Given the description of an element on the screen output the (x, y) to click on. 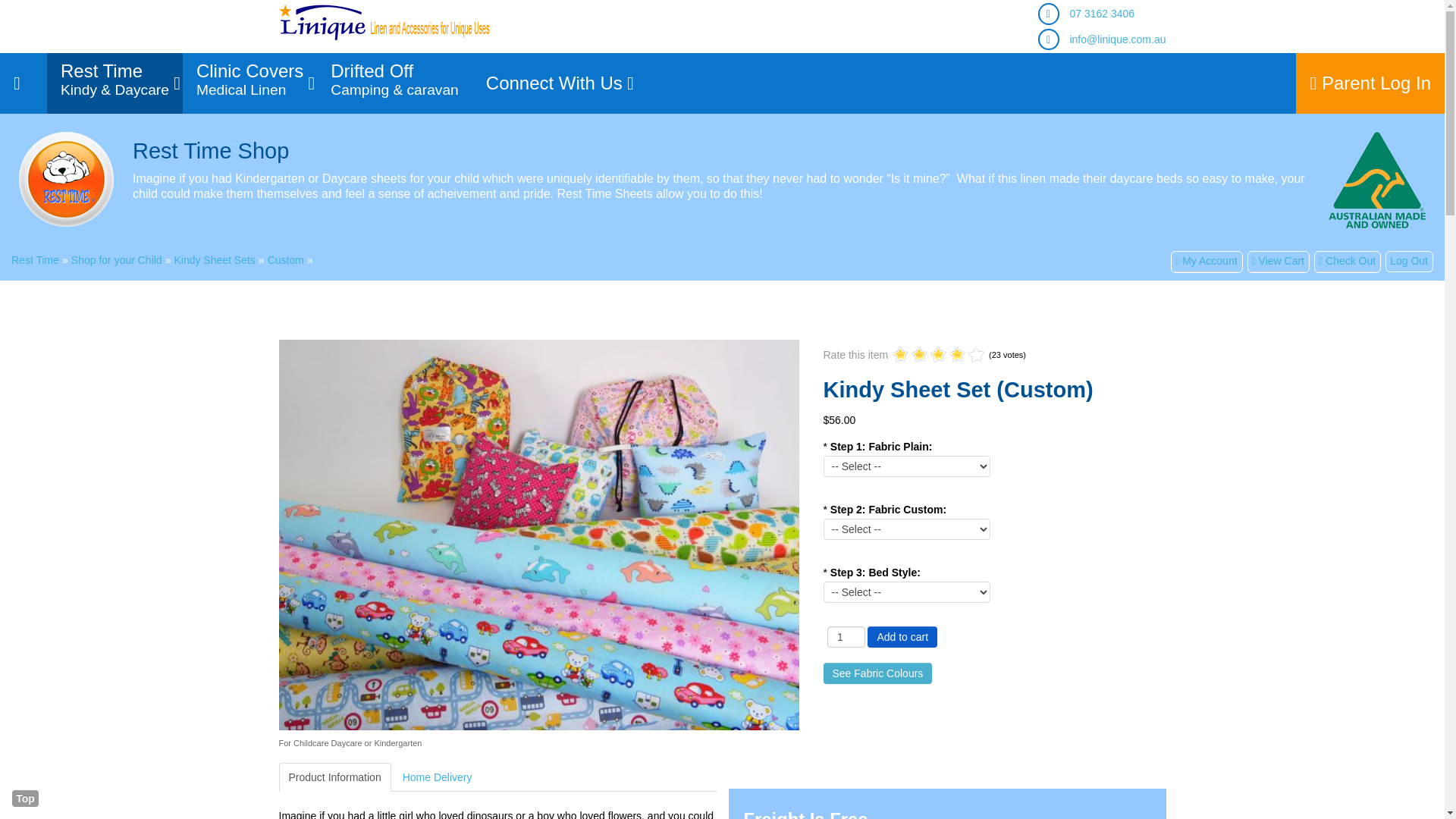
Shop for your Child (116, 259)
1 star out of 5 (250, 83)
3 stars out of 5 (900, 354)
View Cart (919, 354)
Connect With Us (1275, 261)
1 (553, 83)
Check Out (845, 636)
Top (1344, 261)
Click to preview image (25, 798)
